Given the description of an element on the screen output the (x, y) to click on. 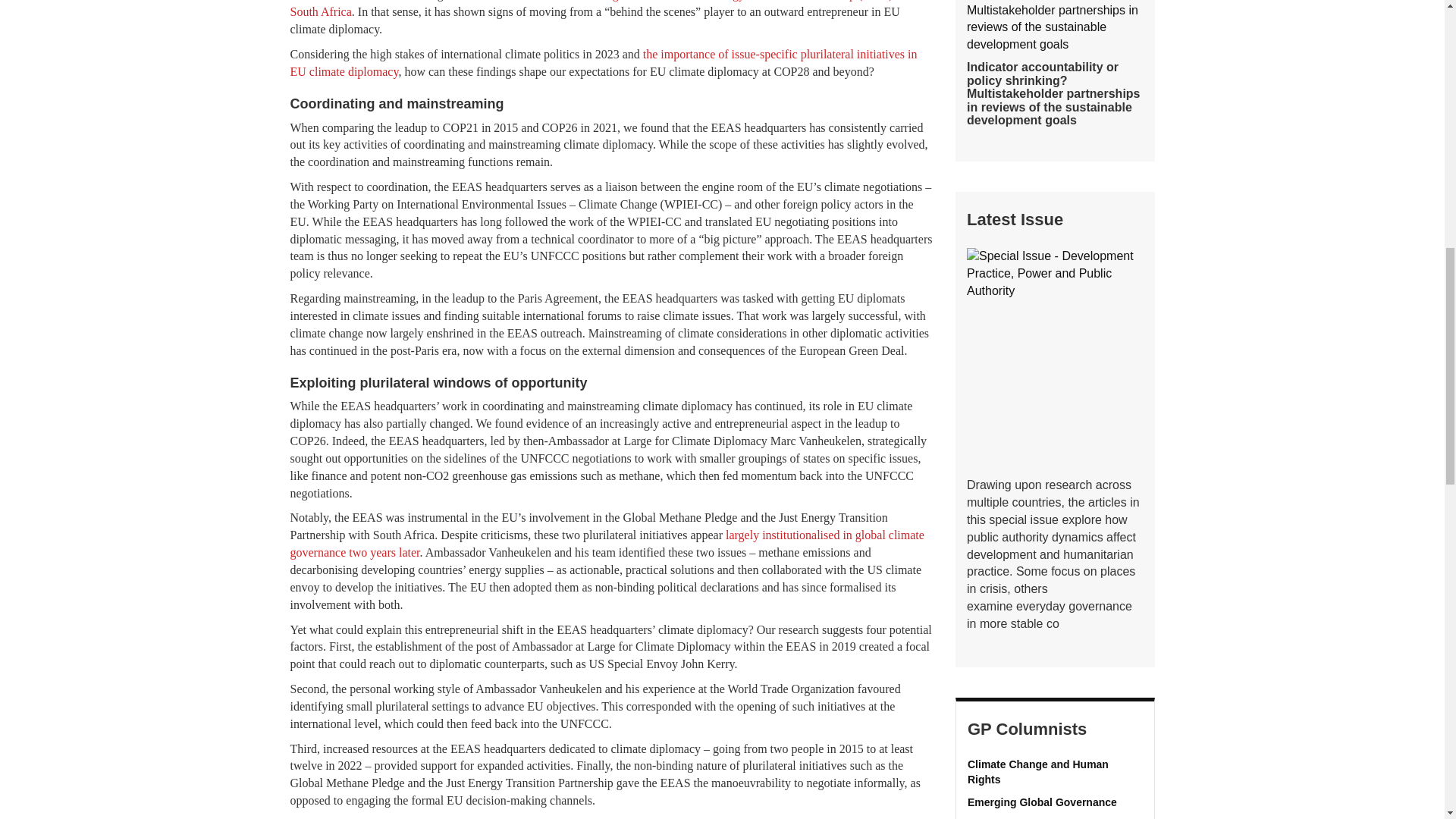
View user profile. (1055, 772)
View user profile. (1055, 802)
